Given the description of an element on the screen output the (x, y) to click on. 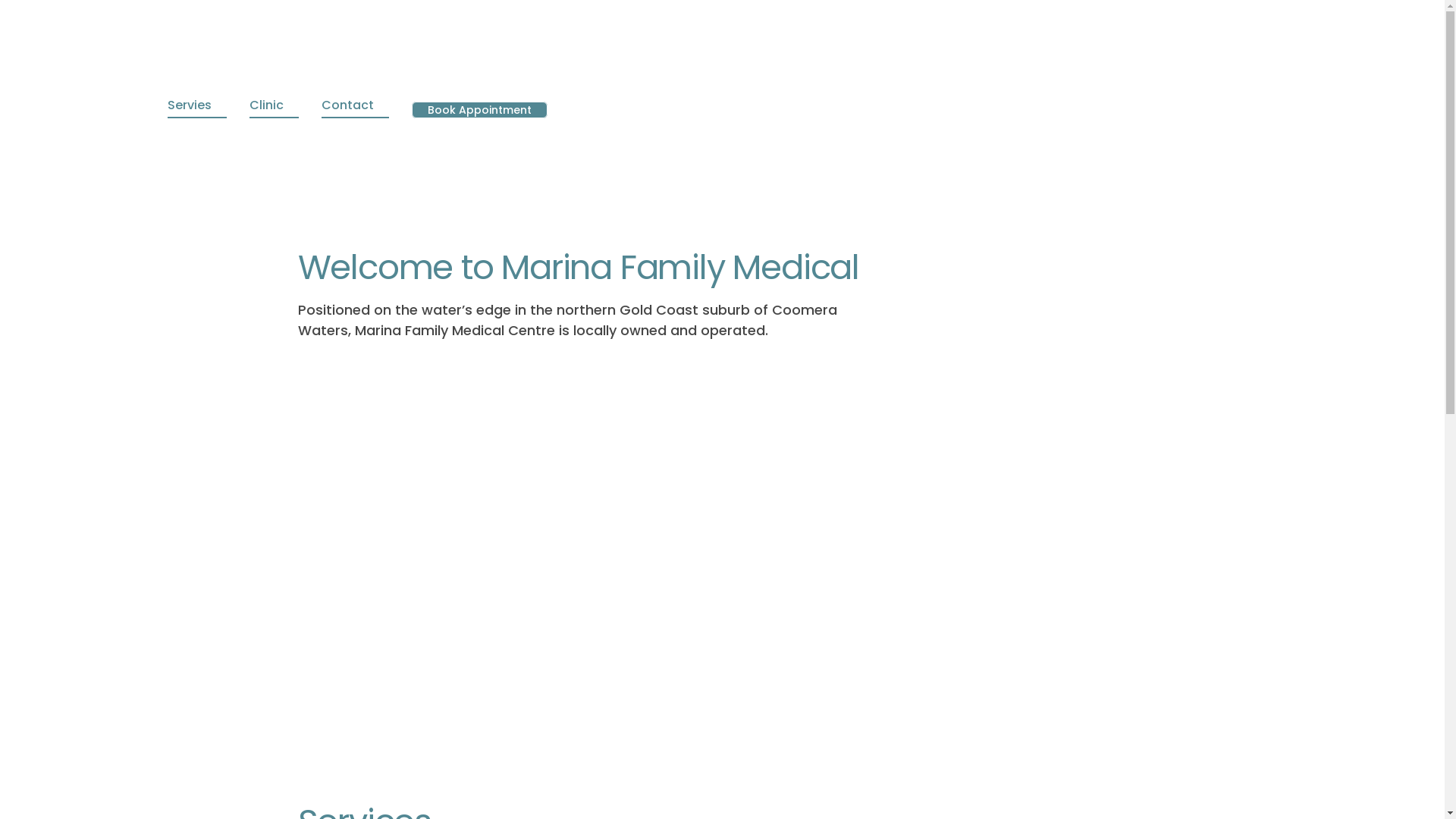
Book Appointment Element type: text (479, 109)
Servies Element type: text (196, 106)
Contact Element type: text (355, 106)
Clinic Element type: text (273, 106)
